Given the description of an element on the screen output the (x, y) to click on. 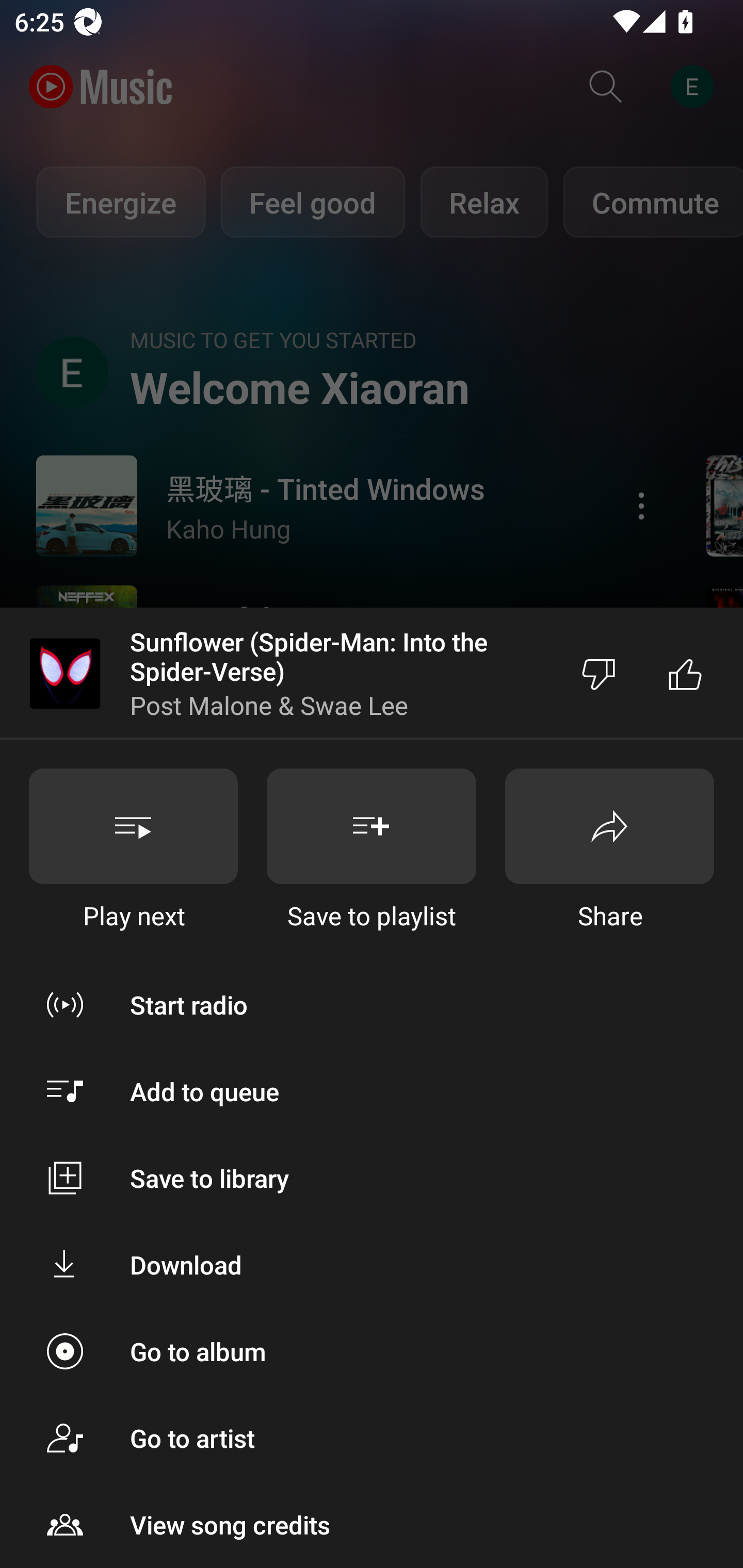
Dislike (598, 673)
Like (684, 673)
Start radio (371, 1004)
Add to queue (371, 1091)
Save to library (371, 1178)
Download (371, 1264)
Go to album (371, 1350)
Go to artist (371, 1437)
View song credits (371, 1524)
